Given the description of an element on the screen output the (x, y) to click on. 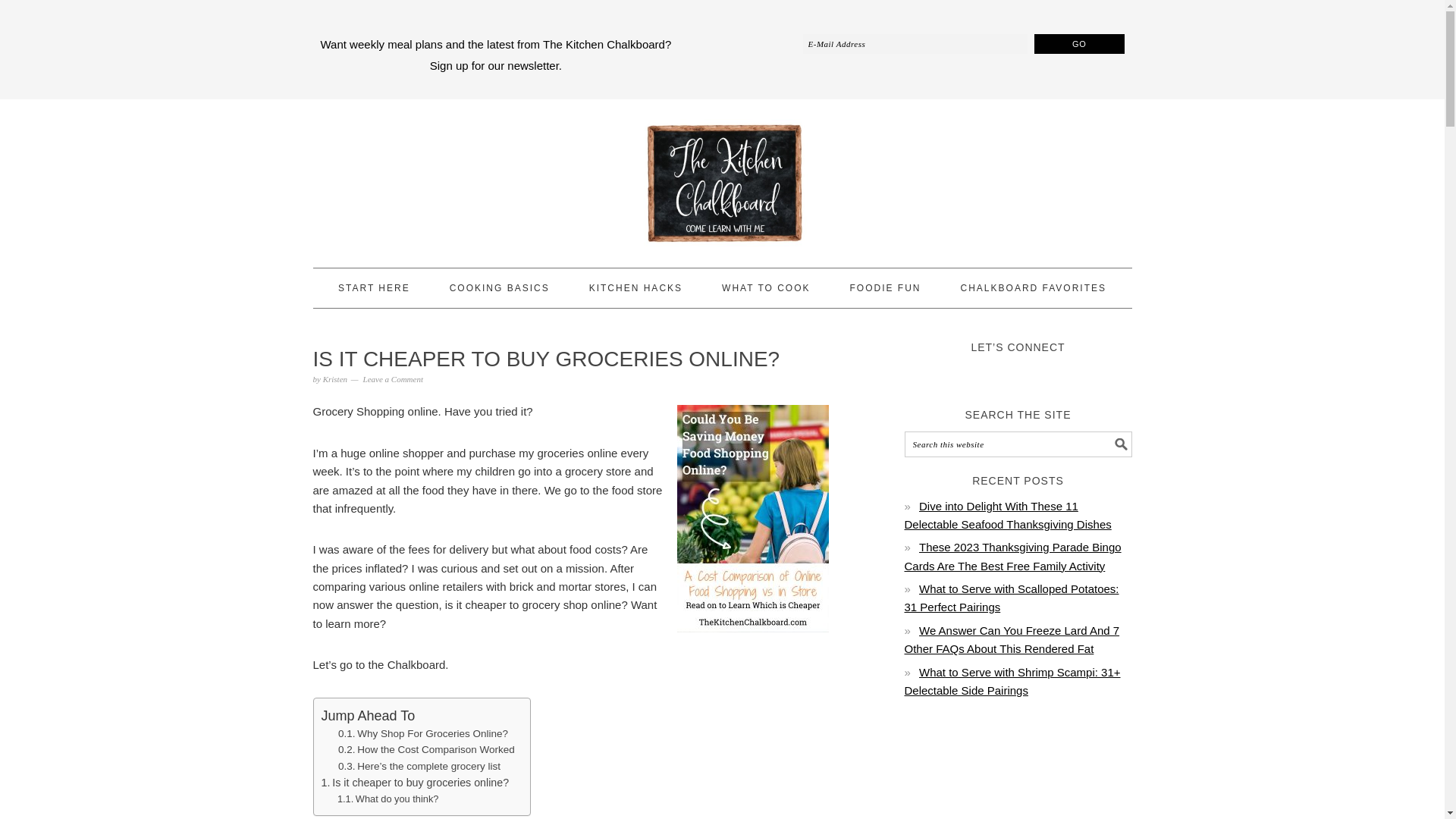
How the Cost Comparison Worked (426, 750)
KITCHEN HACKS (635, 287)
Go (1078, 44)
Why Shop For Groceries Online? (422, 733)
Kristen (335, 379)
How the Cost Comparison Worked (426, 750)
WHAT TO COOK (765, 287)
Is it cheaper to buy groceries online? (415, 782)
THE KITCHEN CHALKBOARD (722, 176)
